Given the description of an element on the screen output the (x, y) to click on. 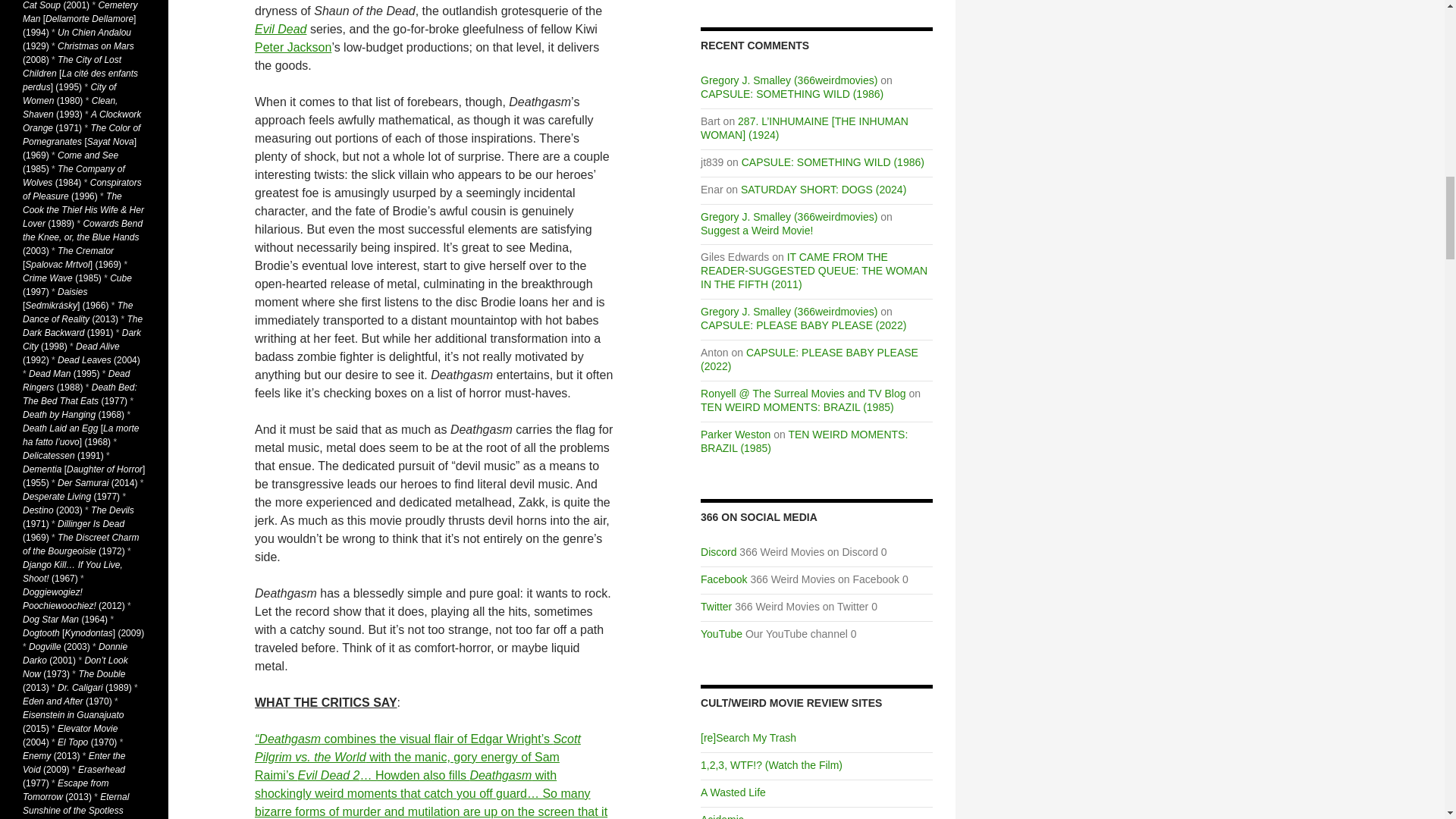
366 Weird Movies on Discord (718, 551)
Our YouTube channel (721, 633)
366 Weird Movies on Facebook (723, 579)
A blog about obscure, trashy, fun, bad and fabulous films.  (732, 792)
Evil Dead (279, 29)
Peter Jackson (292, 47)
366 Weird Movies on Twitter (716, 606)
